Given the description of an element on the screen output the (x, y) to click on. 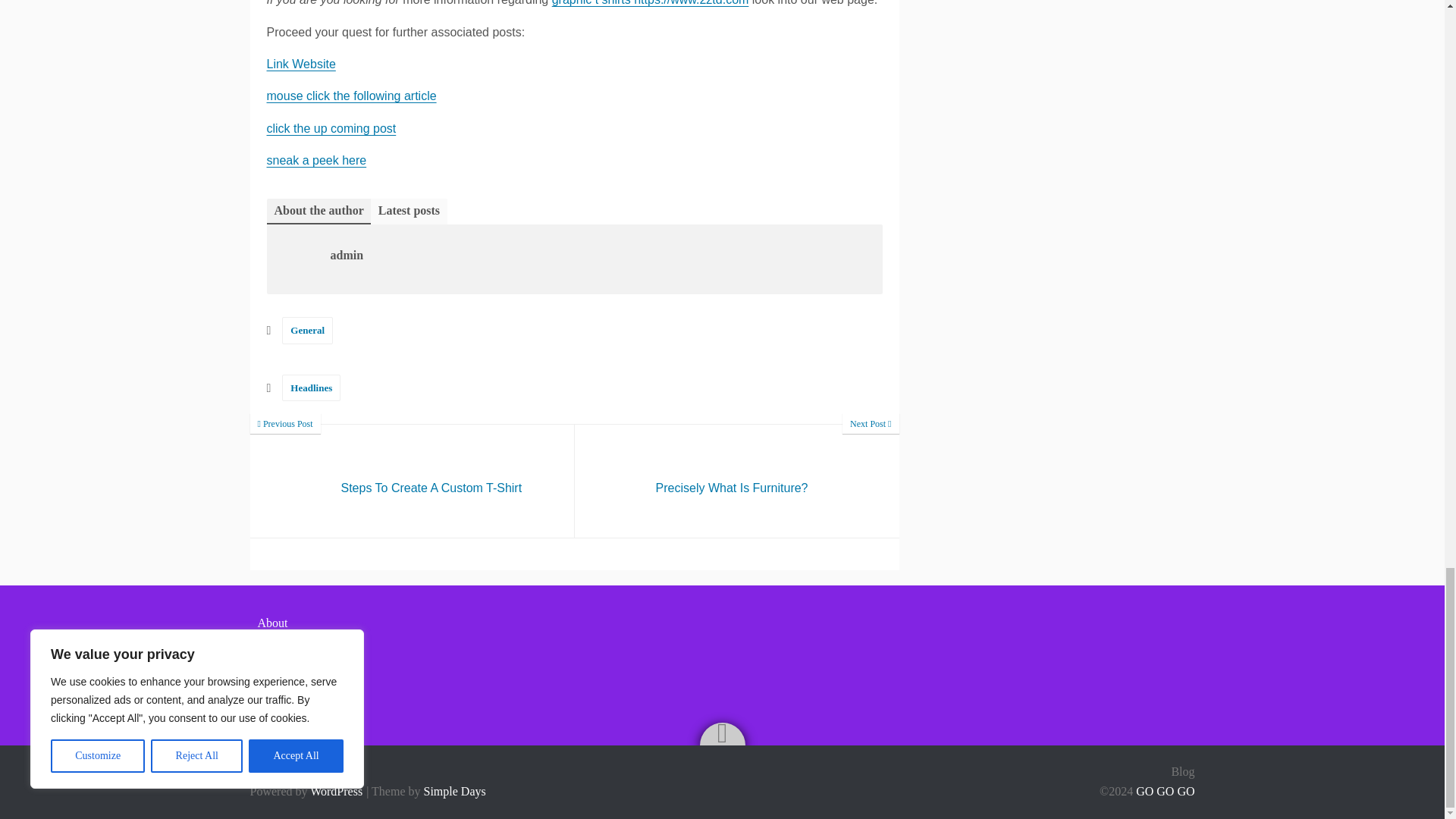
click the up coming post (331, 128)
Precisely What Is Furniture? (412, 480)
General (737, 480)
sneak a peek here (307, 329)
Link Website (316, 160)
Headlines (301, 63)
Steps To Create A Custom T-Shirt (311, 387)
mouse click the following article (412, 480)
